Given the description of an element on the screen output the (x, y) to click on. 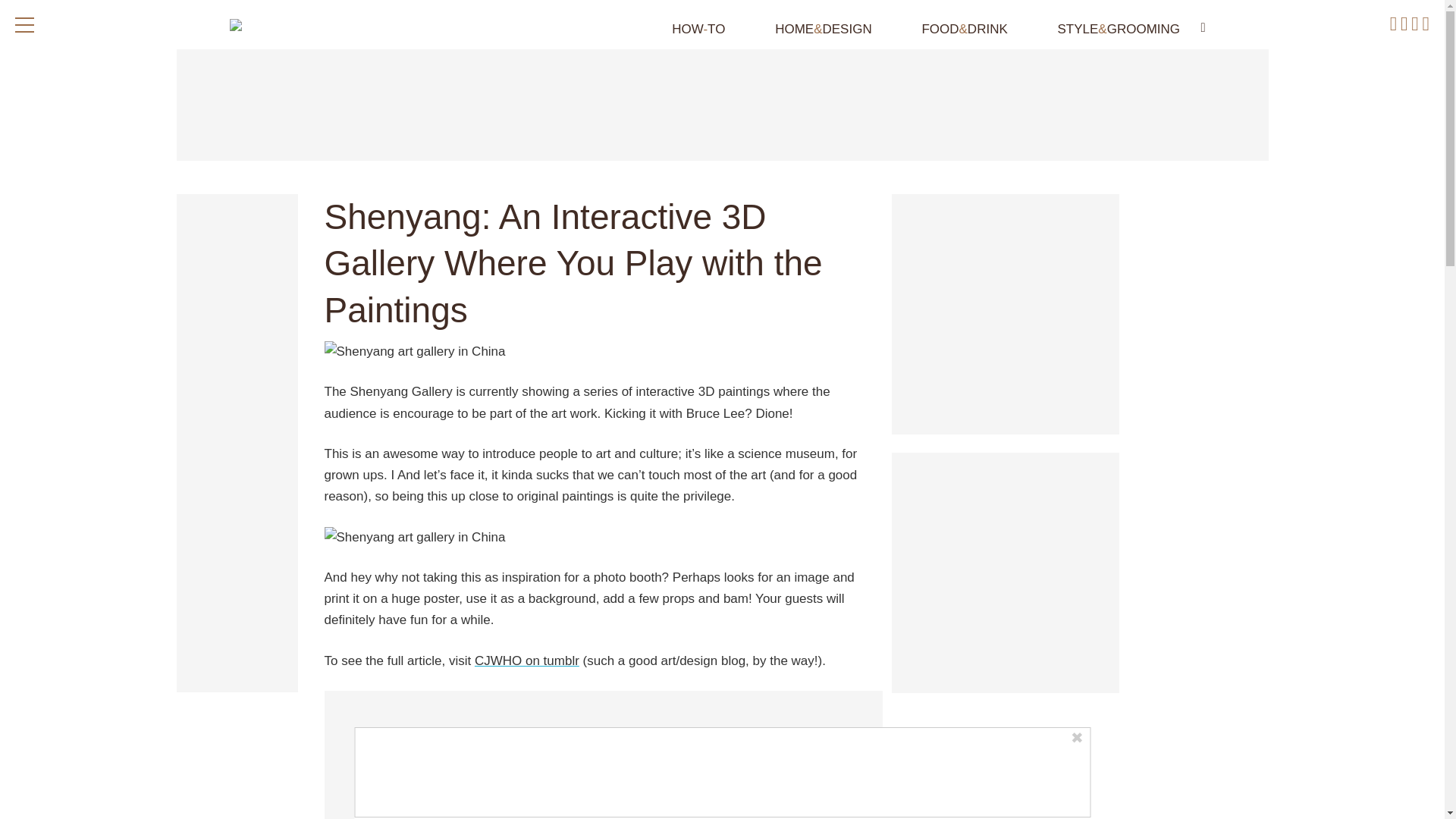
CJWHO on tumblr (526, 660)
Shenyang art gallery in China (603, 537)
HOW-TO (682, 28)
Shenyang art gallery in China (603, 351)
